Given the description of an element on the screen output the (x, y) to click on. 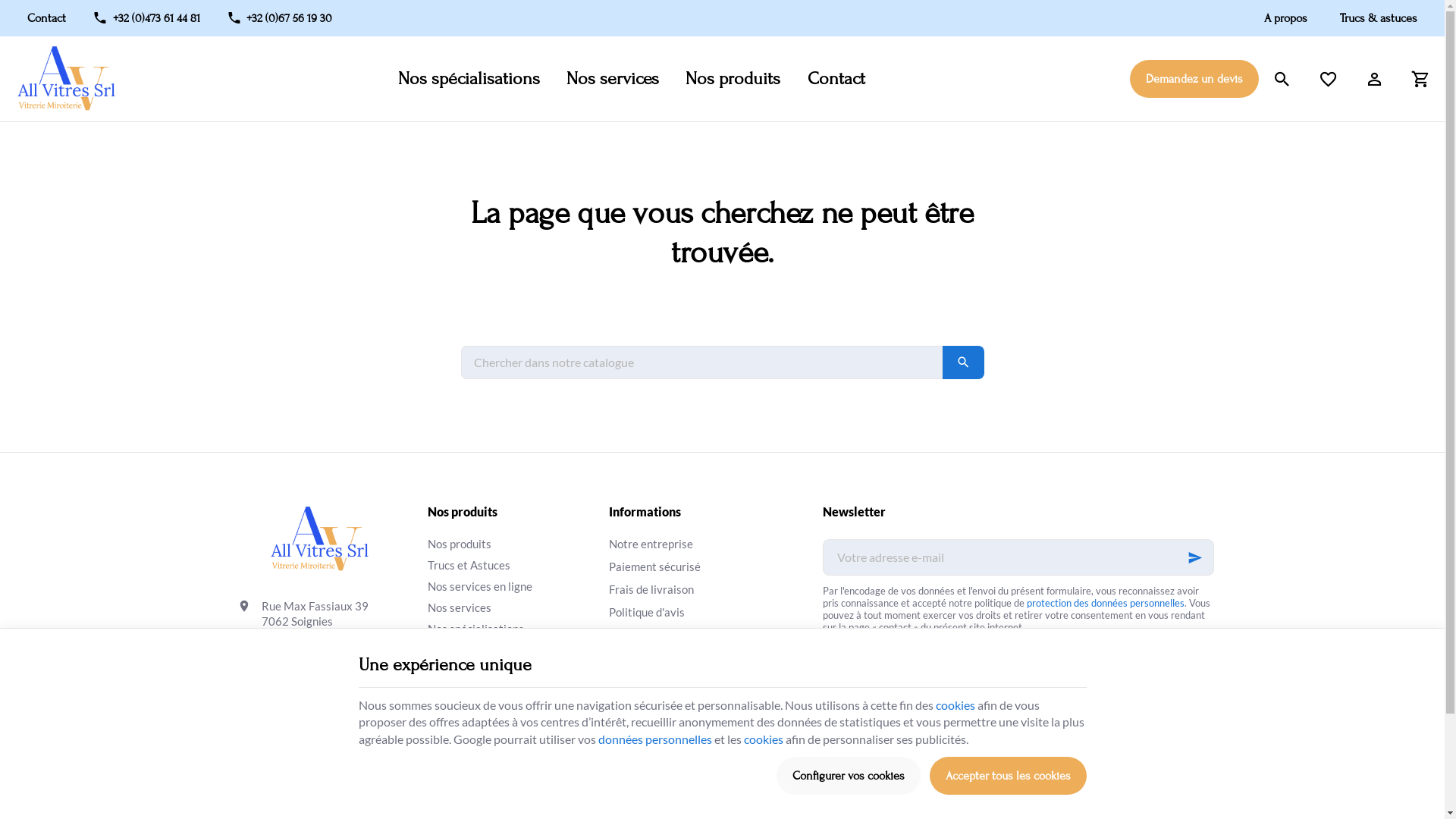
Contact Element type: text (835, 78)
Contact Element type: text (53, 18)
Politique d'avis Element type: text (671, 612)
Nos services Element type: text (612, 78)
Notre entreprise Element type: text (671, 544)
+32 (0)67 56 19 30 Element type: text (279, 18)
Trucs et Astuces Element type: text (508, 564)
Frais de livraison Element type: text (671, 589)
+32 (0)473 61 44 81 Element type: text (313, 657)
Mes Listes d'envies Element type: hover (1328, 78)
OK Element type: text (963, 362)
All vitres Element type: hover (66, 78)
Nos promotions Element type: text (671, 635)
Mon compte Element type: hover (1375, 78)
Configurer vos cookies Element type: text (848, 775)
Nos services Element type: text (508, 607)
All vitres Element type: hover (319, 539)
Notre savoir-faire Element type: text (508, 649)
Invendus Element type: text (508, 670)
+32 (0)473 61 44 81 Element type: text (146, 18)
Trucs & astuces Element type: text (1371, 18)
All vitres Element type: hover (66, 78)
Accepter tous les cookies Element type: text (1007, 775)
Demandez un devis Element type: text (1193, 78)
Nos services en ligne Element type: text (508, 585)
A propos Element type: text (1285, 18)
Nos produits Element type: text (732, 78)
cookies Element type: text (955, 704)
cookies Element type: text (762, 738)
Voir mon panier Element type: hover (1421, 78)
Contactez-nous Element type: text (671, 679)
Nos produits Element type: text (508, 543)
